Given the description of an element on the screen output the (x, y) to click on. 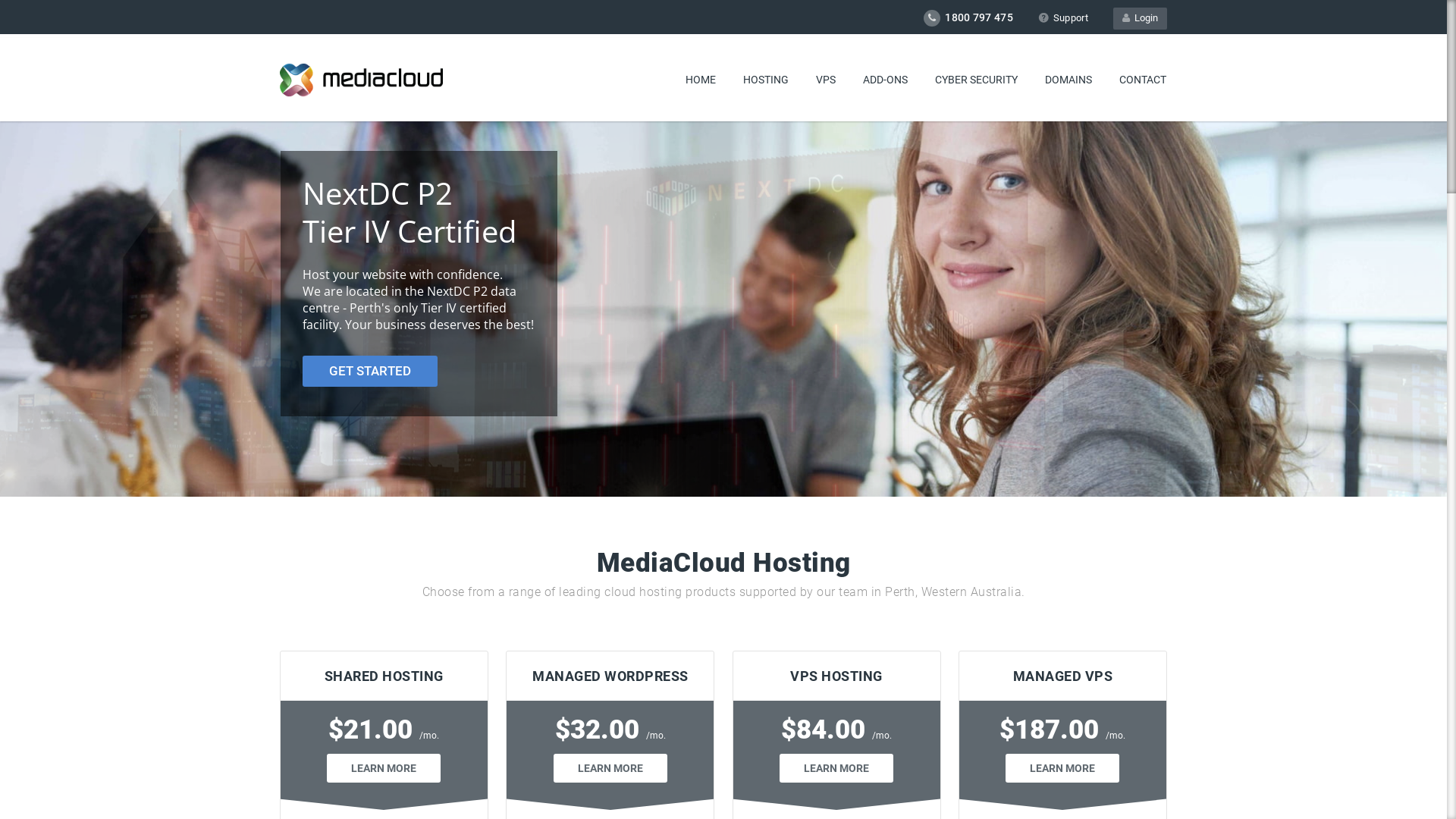
HOSTING Element type: text (765, 79)
LEARN MORE Element type: text (383, 767)
LEARN MORE Element type: text (1062, 767)
LEARN MORE Element type: text (836, 767)
ADD-ONS Element type: text (885, 79)
CONTACT Element type: text (1142, 79)
DOMAINS Element type: text (1068, 79)
LEARN MORE Element type: text (610, 767)
VPS Element type: text (825, 79)
CYBER SECURITY Element type: text (976, 79)
Support Element type: text (1063, 17)
HOME Element type: text (700, 79)
  Login Element type: text (1140, 18)
